Given the description of an element on the screen output the (x, y) to click on. 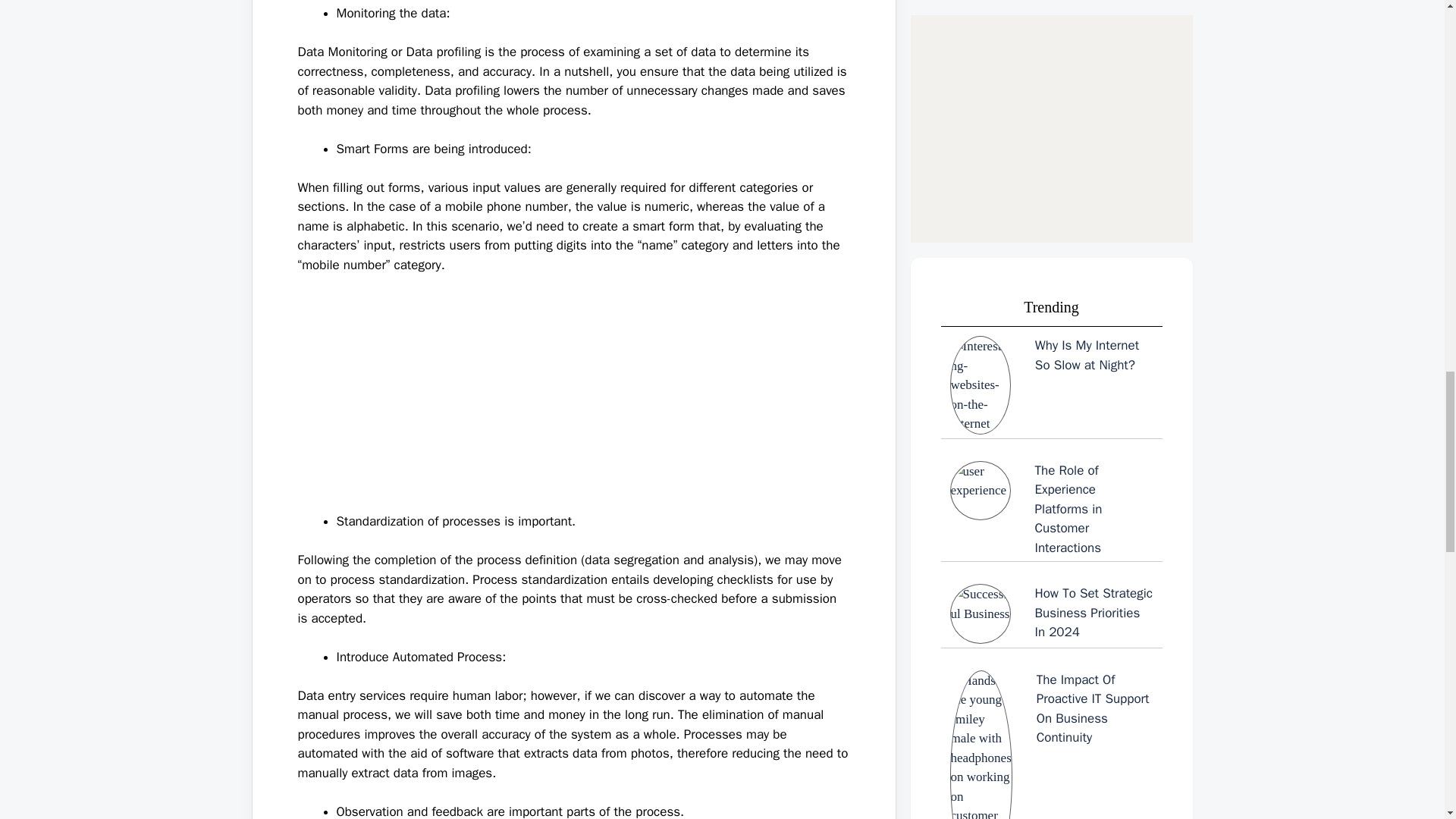
Top Benefits Of Using Enterprise Hosting Solutions (1051, 207)
How to Watch Spanish TV in the US (1051, 22)
Navigating the Maze: Understanding Search Engine Redirects (1051, 108)
